Given the description of an element on the screen output the (x, y) to click on. 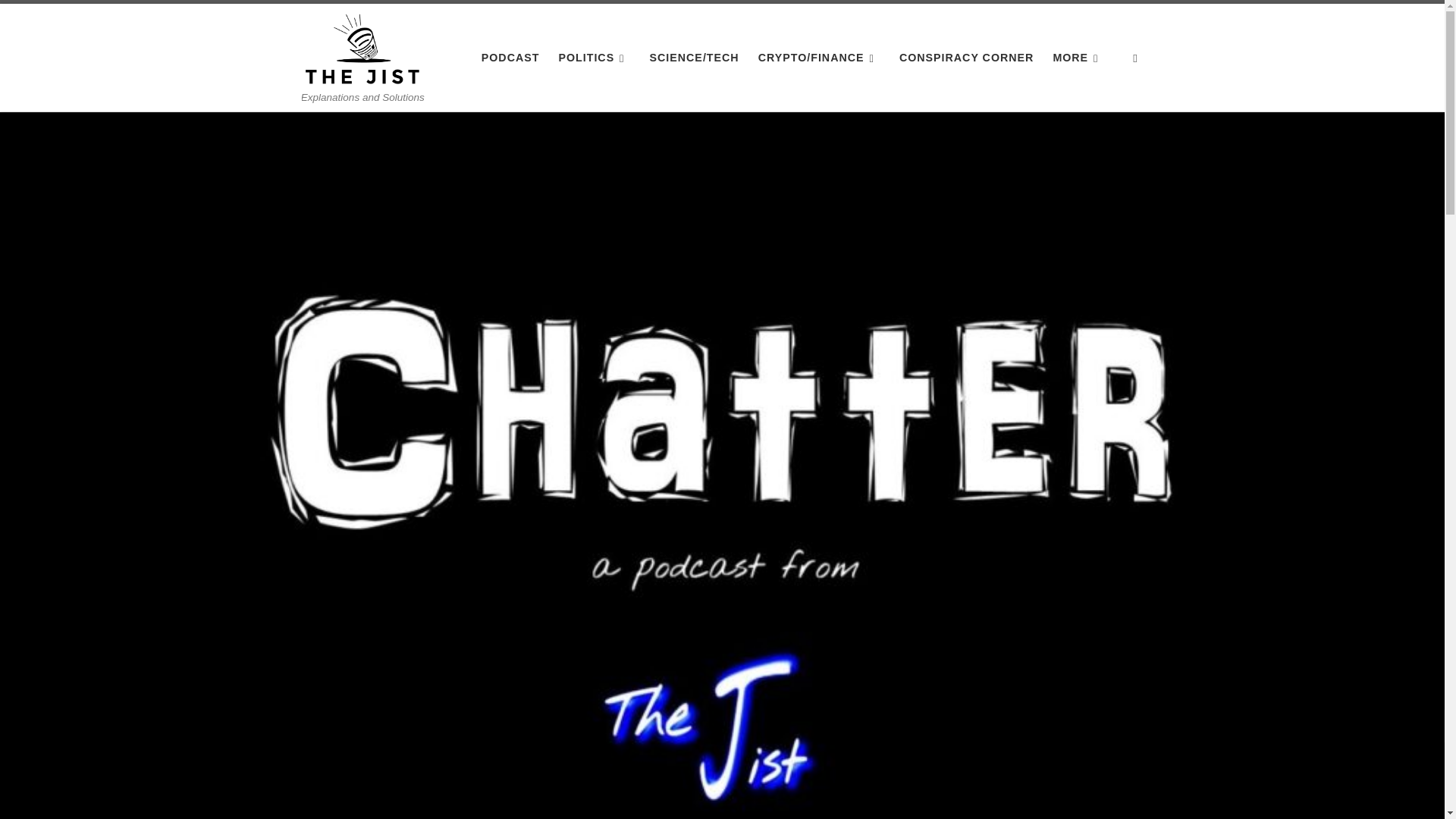
CONSPIRACY CORNER (967, 57)
PODCAST (510, 57)
MORE (1078, 57)
POLITICS (593, 57)
Skip to content (60, 20)
